Given the description of an element on the screen output the (x, y) to click on. 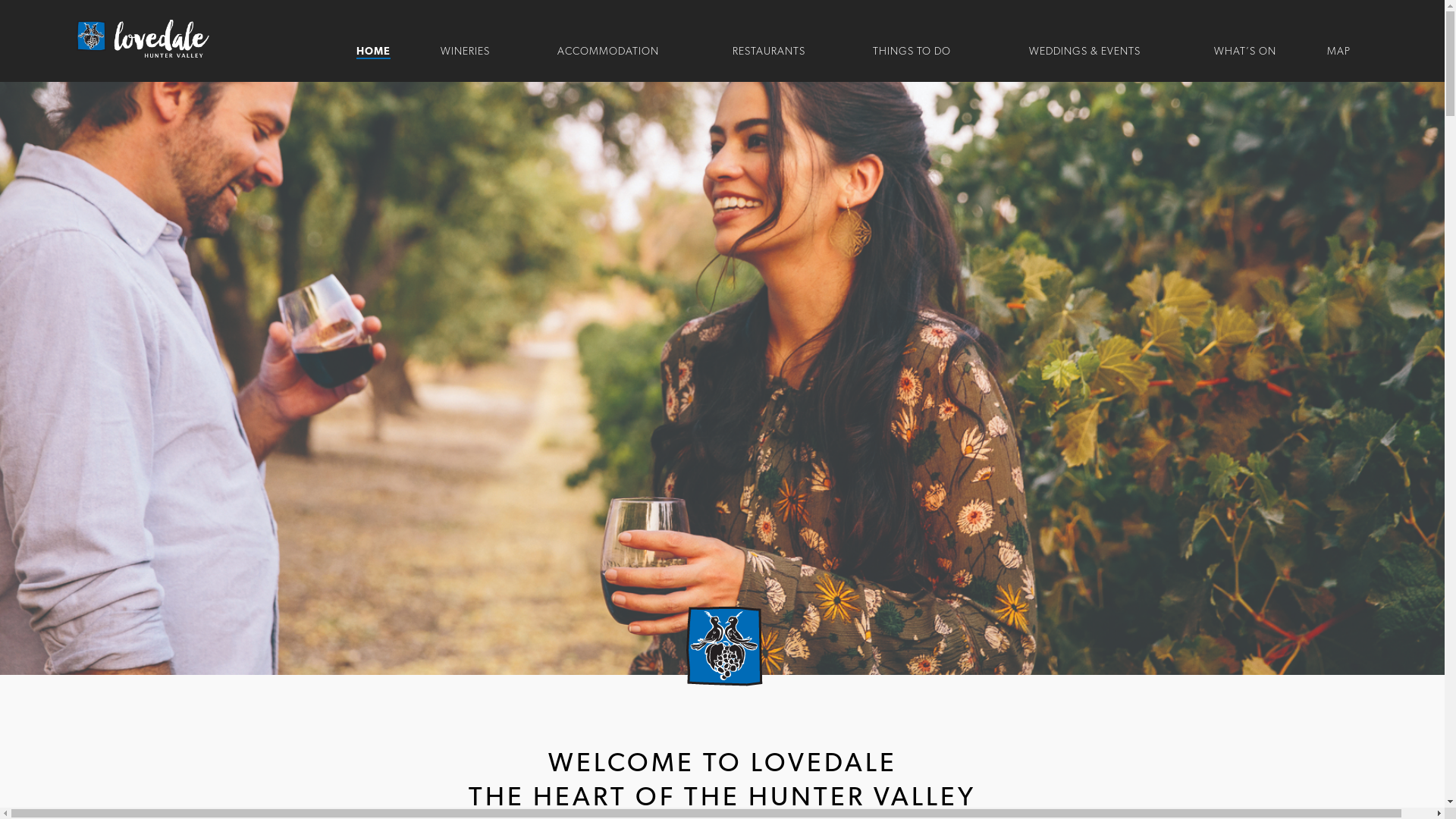
THINGS TO DO Element type: text (911, 51)
MAP Element type: text (1338, 51)
RESTAURANTS Element type: text (768, 51)
HOME Element type: text (373, 52)
WEDDINGS & EVENTS Element type: text (1084, 51)
ACCOMMODATION Element type: text (607, 51)
WINERIES Element type: text (464, 51)
